Given the description of an element on the screen output the (x, y) to click on. 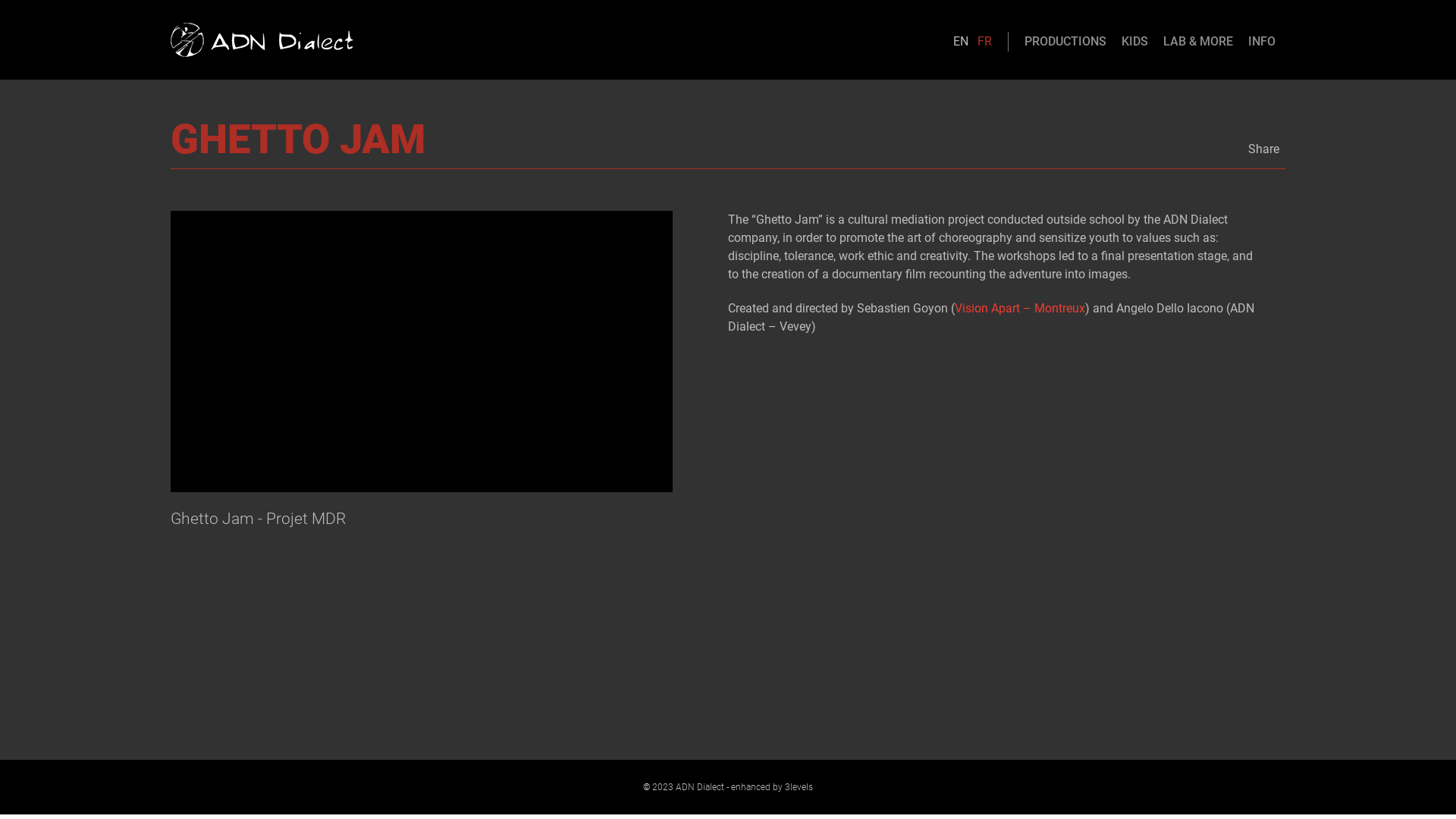
Ghetto Jam - social project for teens Element type: hover (420, 351)
FR Element type: text (984, 41)
INFO Element type: text (1261, 41)
PRODUCTIONS Element type: text (1065, 41)
LAB & MORE Element type: text (1198, 41)
KIDS Element type: text (1134, 41)
